Given the description of an element on the screen output the (x, y) to click on. 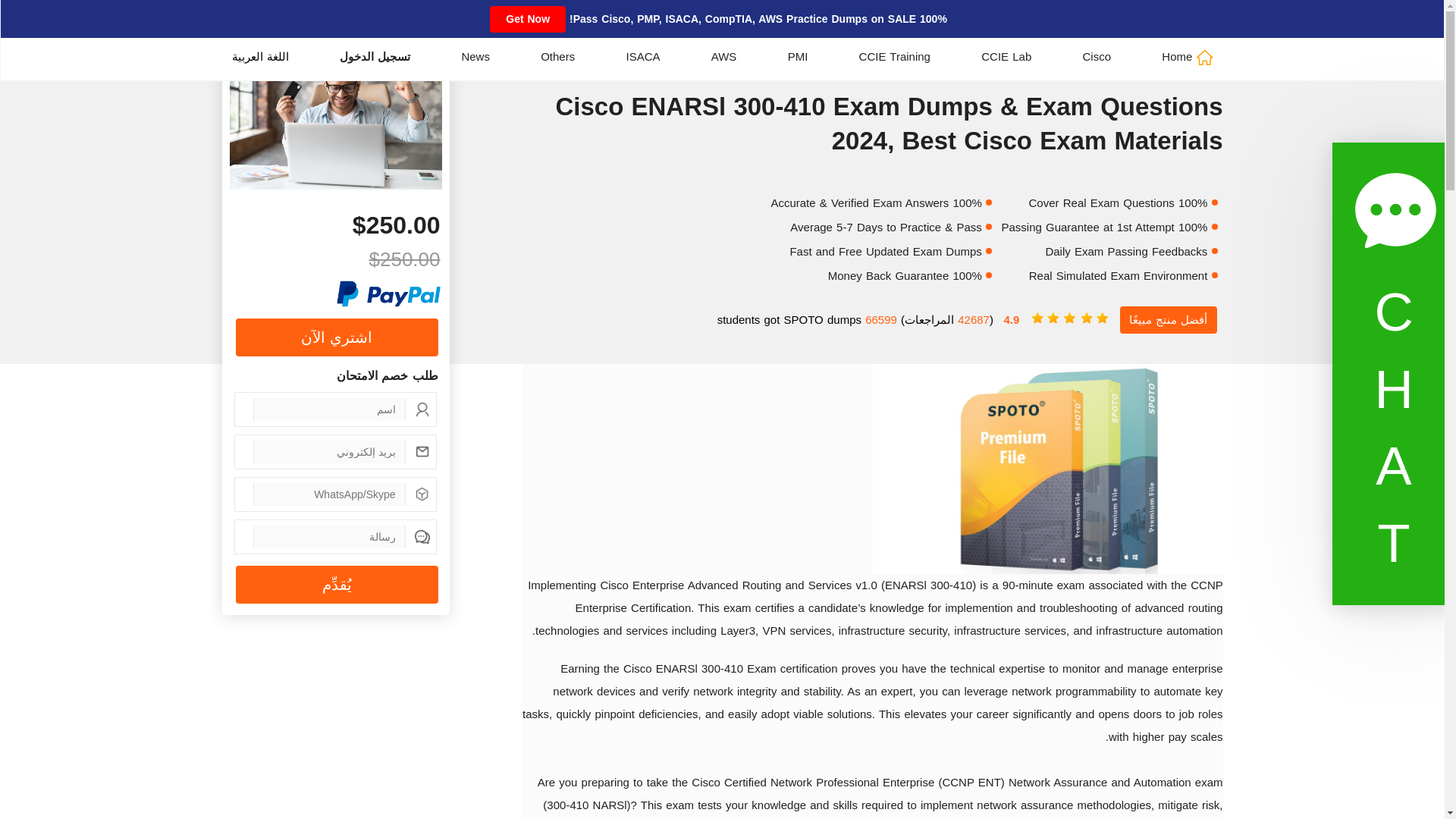
CCIE Training (894, 56)
Home (1186, 56)
CCIE Lab (1005, 56)
Cisco (1097, 56)
Get Now (527, 18)
PMI (797, 56)
